Given the description of an element on the screen output the (x, y) to click on. 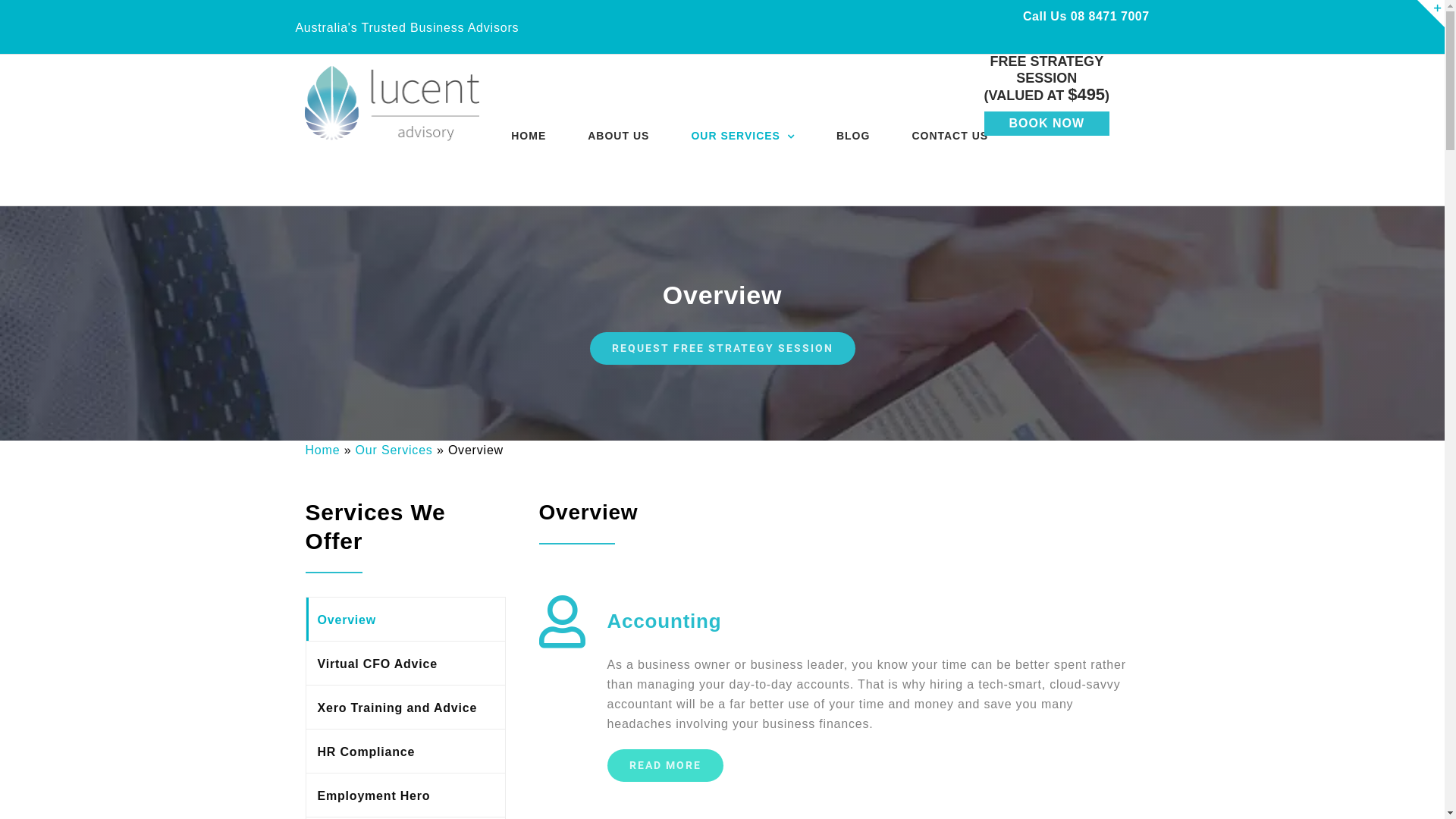
08 8471 7007 Element type: text (1109, 15)
ABOUT US Element type: text (618, 135)
Overview Element type: text (405, 618)
Home Element type: text (321, 449)
REQUEST FREE STRATEGY SESSION Element type: text (722, 348)
HOME Element type: text (528, 135)
FREE STRATEGY
SESSION
(VALUED AT $495)
BOOK NOW Element type: text (1046, 94)
Toggle Sliding Bar Area Element type: text (1430, 13)
OUR SERVICES Element type: text (742, 135)
Employment Hero Element type: text (405, 794)
HR Compliance Element type: text (405, 750)
READ MORE Element type: text (664, 765)
Virtual CFO Advice Element type: text (405, 662)
BLOG Element type: text (853, 135)
Xero Training and Advice Element type: text (405, 706)
Our Services Element type: text (394, 449)
CONTACT US Element type: text (949, 135)
